Given the description of an element on the screen output the (x, y) to click on. 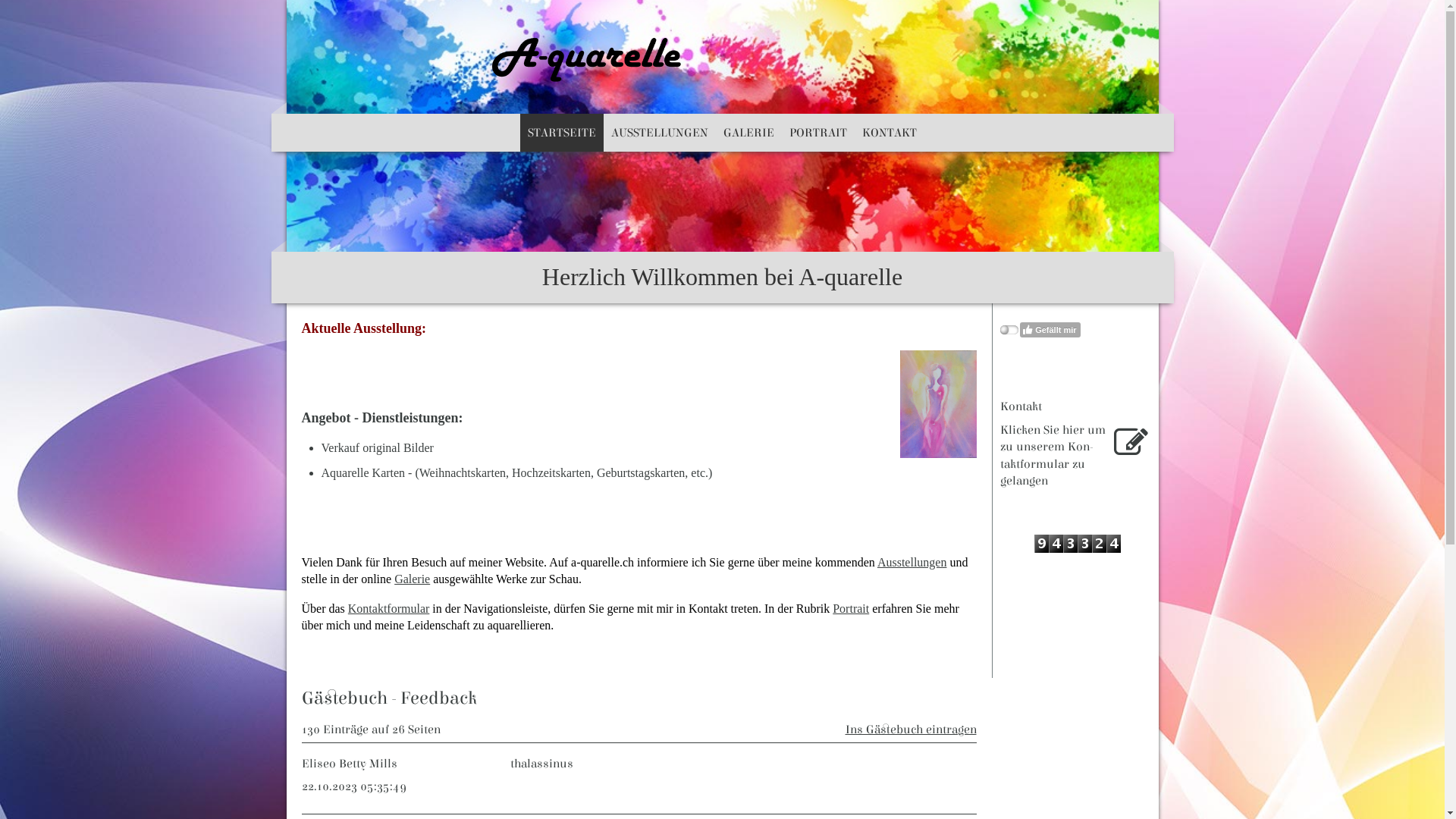
AUSSTELLUNGEN Element type: text (659, 132)
Kontaktformular Element type: text (388, 608)
Portrait Element type: text (850, 608)
Ausstellungen Element type: text (912, 561)
PORTRAIT Element type: text (817, 132)
Galerie Element type: text (411, 578)
STARTSEITE Element type: text (561, 132)
GALERIE Element type: text (748, 132)
KONTAKT Element type: text (889, 132)
